Given the description of an element on the screen output the (x, y) to click on. 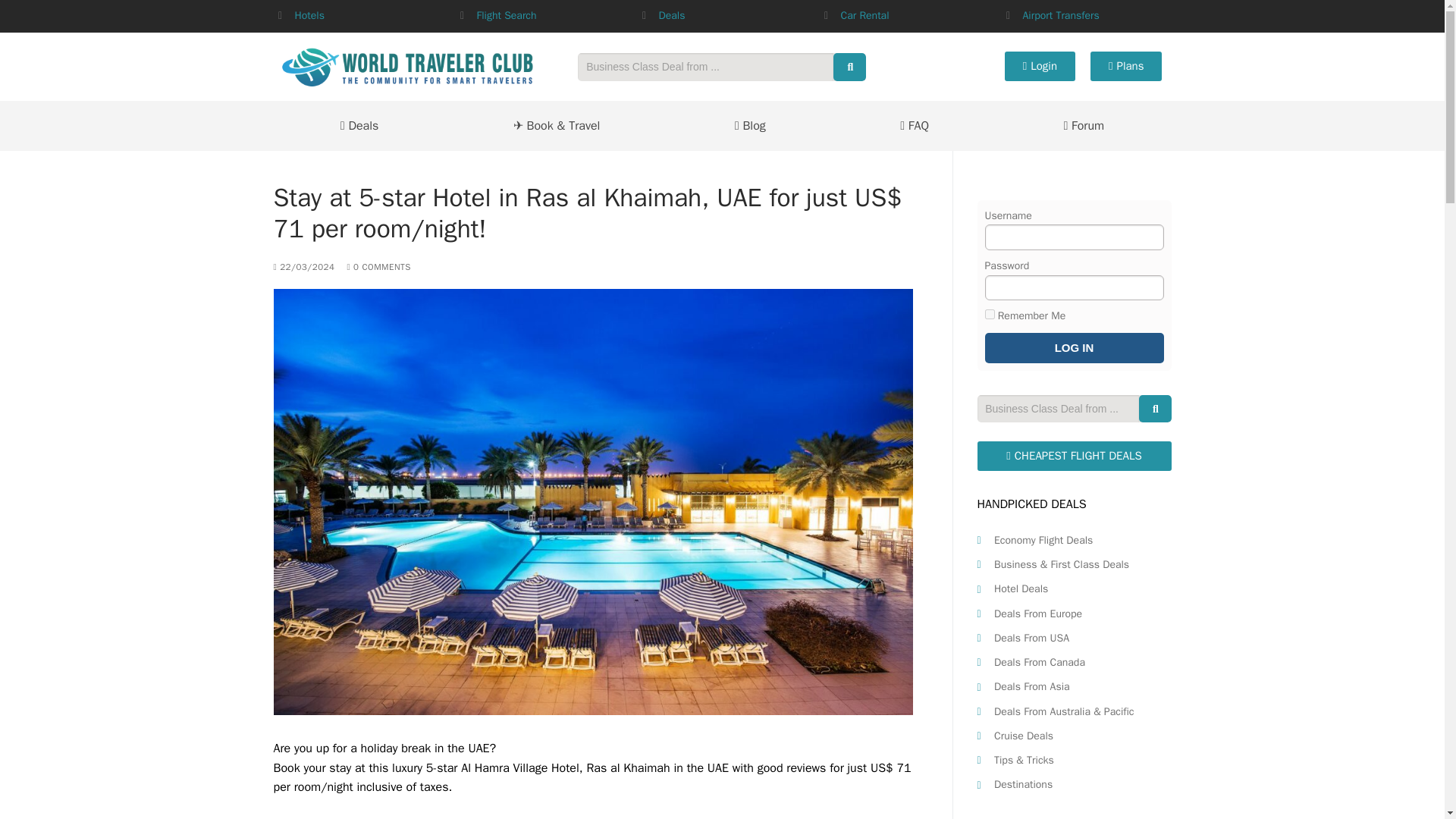
Login (1039, 66)
Airport Transfers (1060, 15)
Flight Search (505, 15)
Plans (1125, 66)
Deals (671, 15)
Hotels (308, 15)
Car Rental (864, 15)
forever (989, 314)
